Given the description of an element on the screen output the (x, y) to click on. 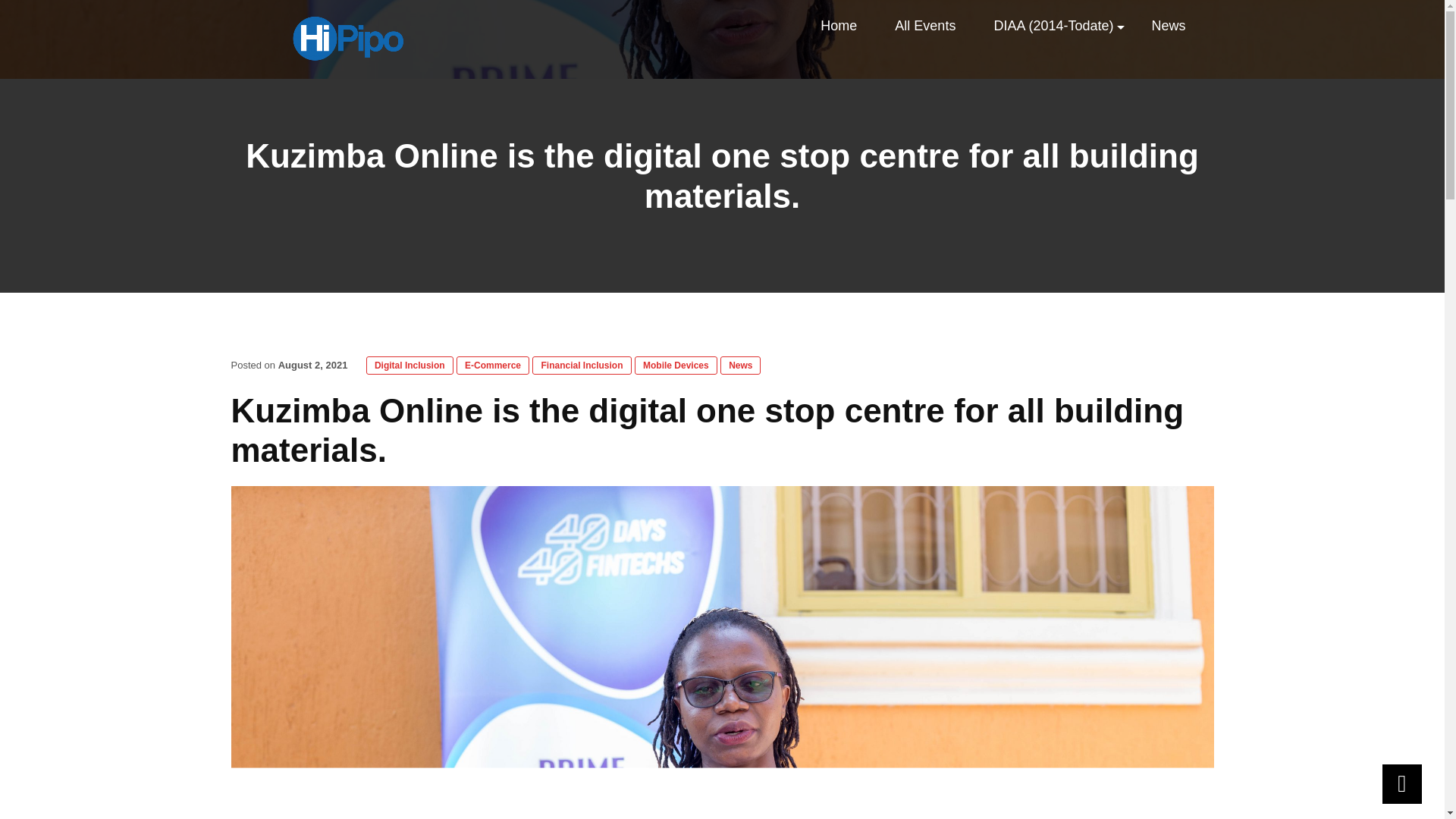
Home (839, 26)
HiPipo -Digital Impact Awards Africa (346, 37)
News (1168, 26)
Home (839, 26)
E-Commerce (493, 365)
Digital Inclusion (409, 365)
News (740, 365)
All Events (925, 26)
News (1168, 26)
All Events (925, 26)
